Given the description of an element on the screen output the (x, y) to click on. 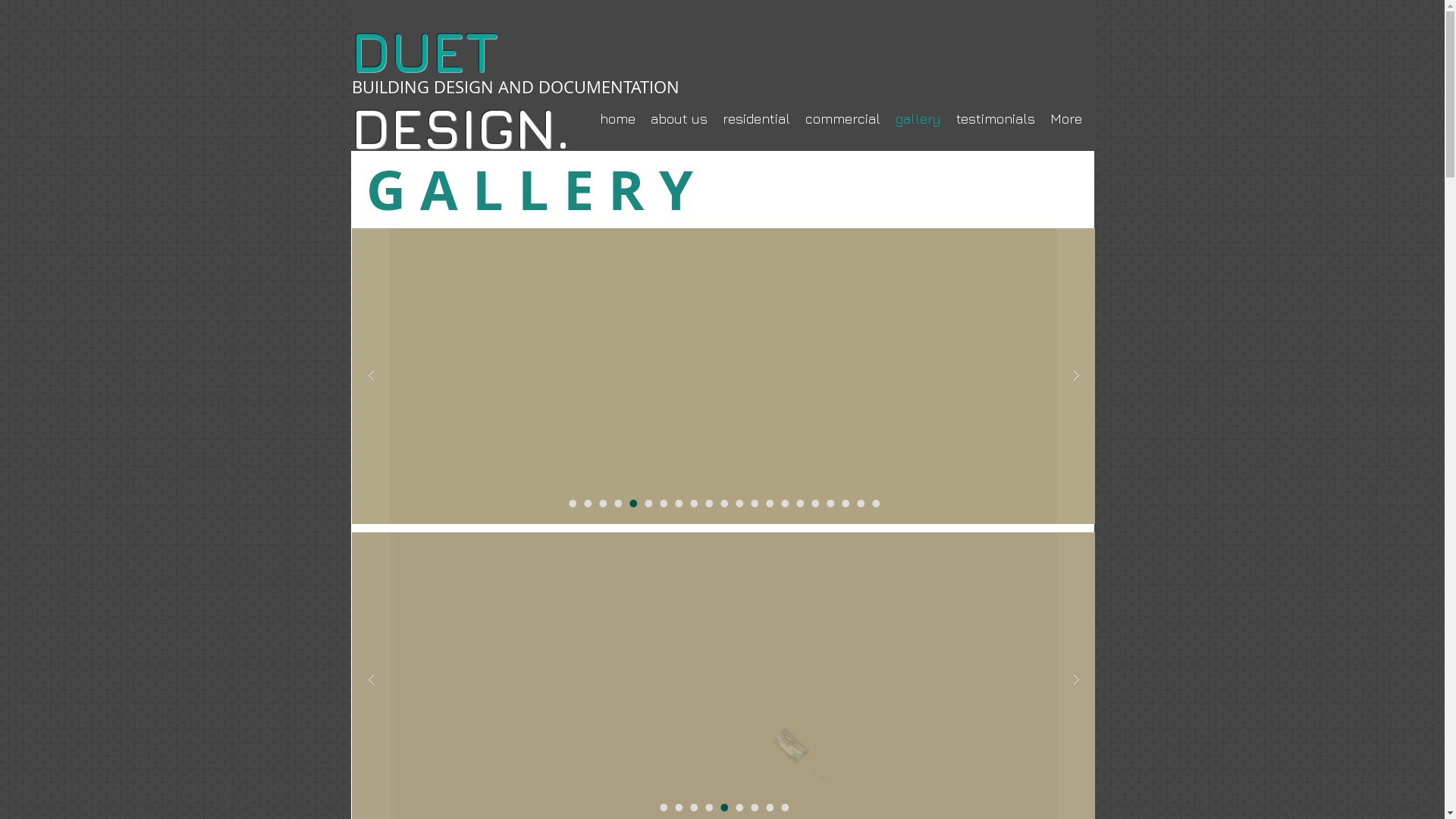
testimonials Element type: text (994, 118)
residential Element type: text (755, 118)
commercial Element type: text (842, 118)
gallery Element type: text (917, 118)
about us Element type: text (679, 118)
home Element type: text (616, 118)
